Given the description of an element on the screen output the (x, y) to click on. 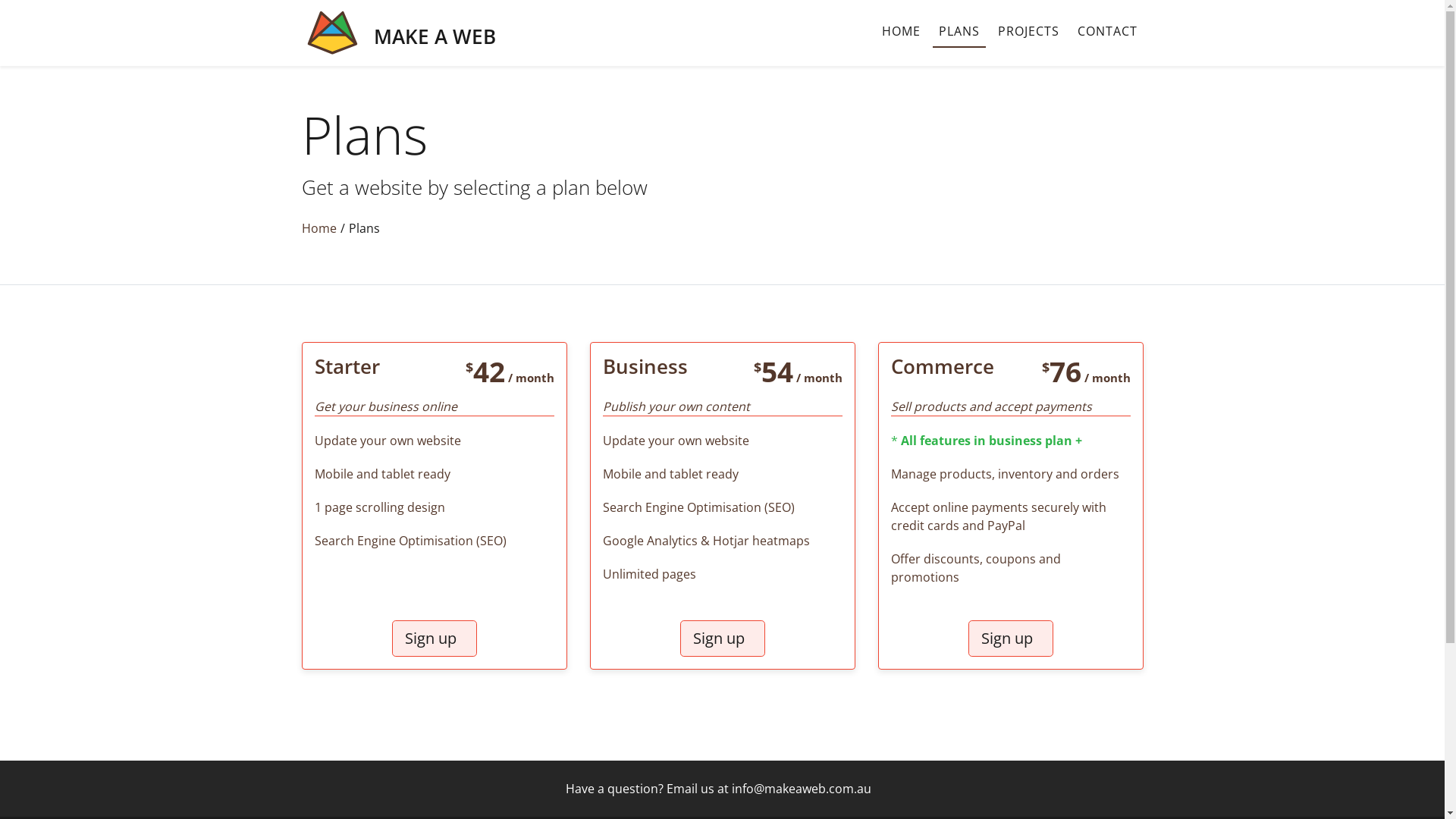
CONTACT Element type: text (1106, 30)
Sign up Element type: text (433, 638)
HOME Element type: text (900, 30)
Sign up Element type: text (1009, 638)
PROJECTS Element type: text (1028, 30)
PLANS
(CURRENT) Element type: text (958, 31)
Sign up Element type: text (721, 638)
Home Element type: text (318, 227)
Have a question? Email us at info@makeaweb.com.au Element type: text (722, 788)
